Given the description of an element on the screen output the (x, y) to click on. 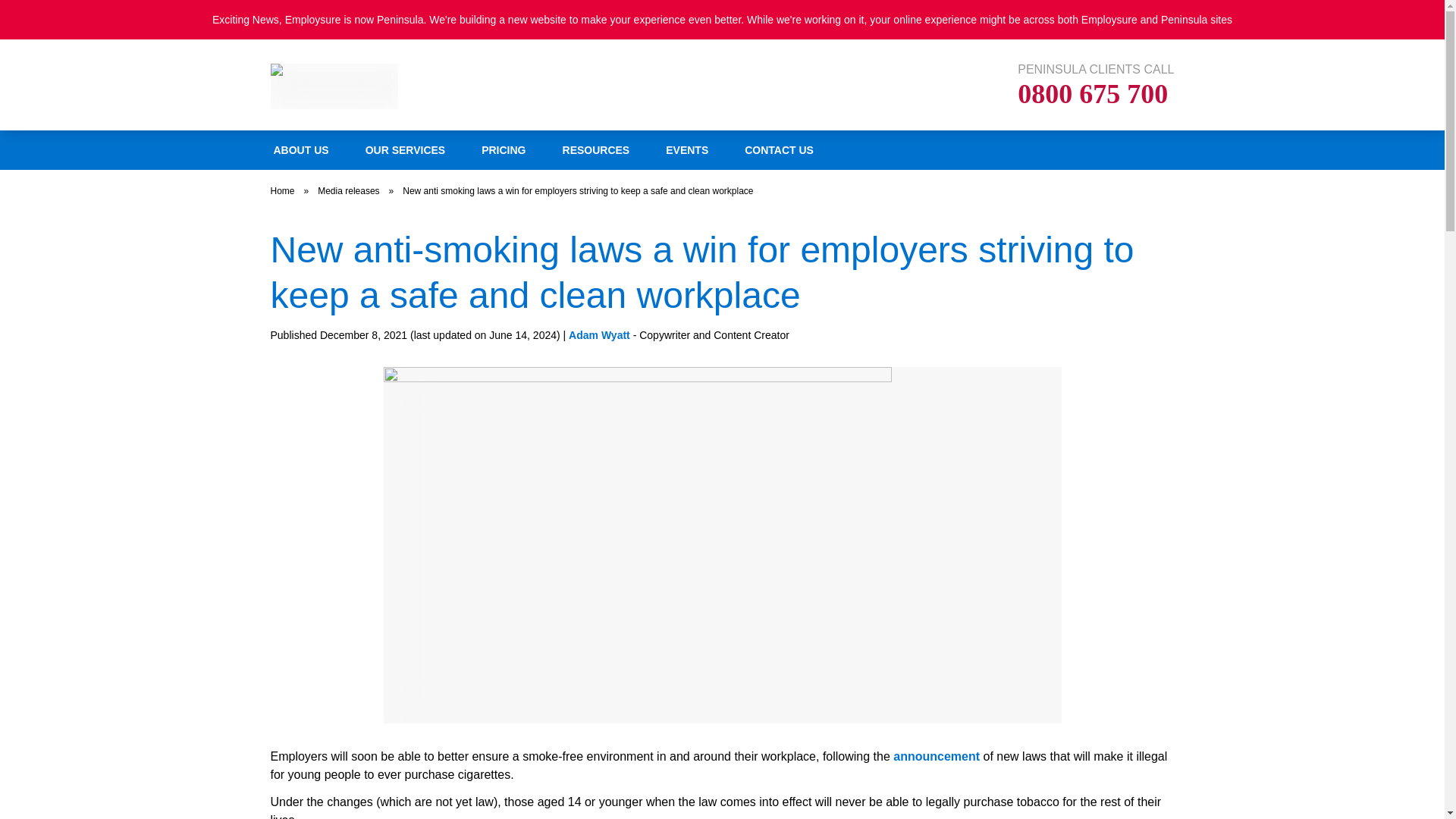
PRICING (502, 149)
